Given the description of an element on the screen output the (x, y) to click on. 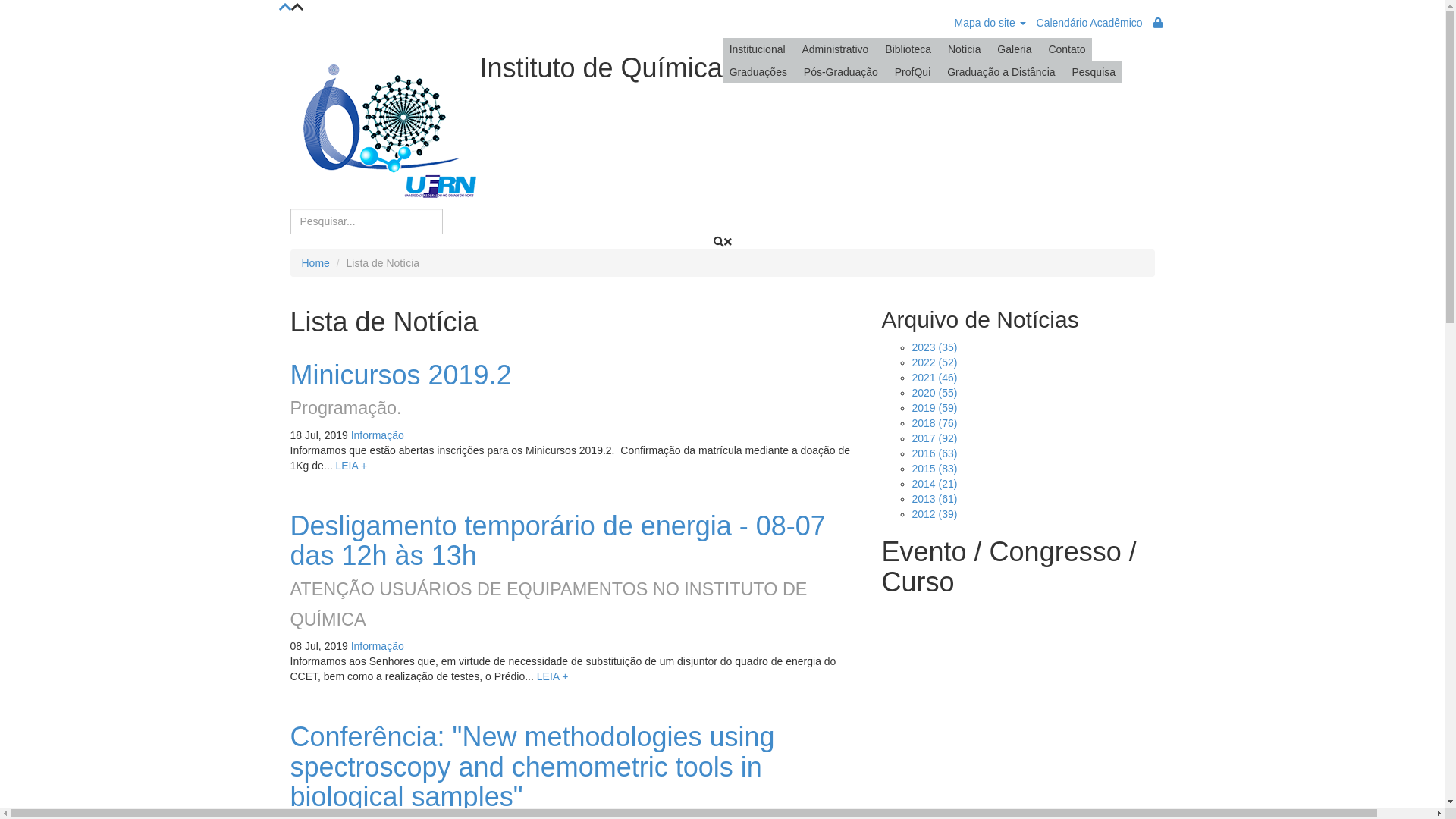
Galeria Element type: text (1014, 48)
Contato Element type: text (1066, 48)
Administrativo Element type: text (834, 48)
2013 (61) Element type: text (934, 498)
Para o alto, e avante! Element type: hover (285, 7)
2023 (35) Element type: text (934, 347)
2016 (63) Element type: text (934, 453)
2021 (46) Element type: text (934, 377)
Home Element type: text (315, 263)
2019 (59) Element type: text (934, 407)
2022 (52) Element type: text (934, 362)
Mapa do site Element type: text (990, 22)
2018 (76) Element type: text (934, 423)
Minicursos 2019.2 Element type: text (400, 374)
Pesquisa Element type: text (1093, 71)
ProfQui Element type: text (912, 71)
2017 (92) Element type: text (934, 438)
Institucional Element type: text (757, 48)
Biblioteca Element type: text (908, 48)
2020 (55) Element type: text (934, 392)
LEIA + Element type: text (351, 465)
2014 (21) Element type: text (934, 483)
2012 (39) Element type: text (934, 514)
LEIA + Element type: text (552, 676)
2015 (83) Element type: text (934, 468)
